Given the description of an element on the screen output the (x, y) to click on. 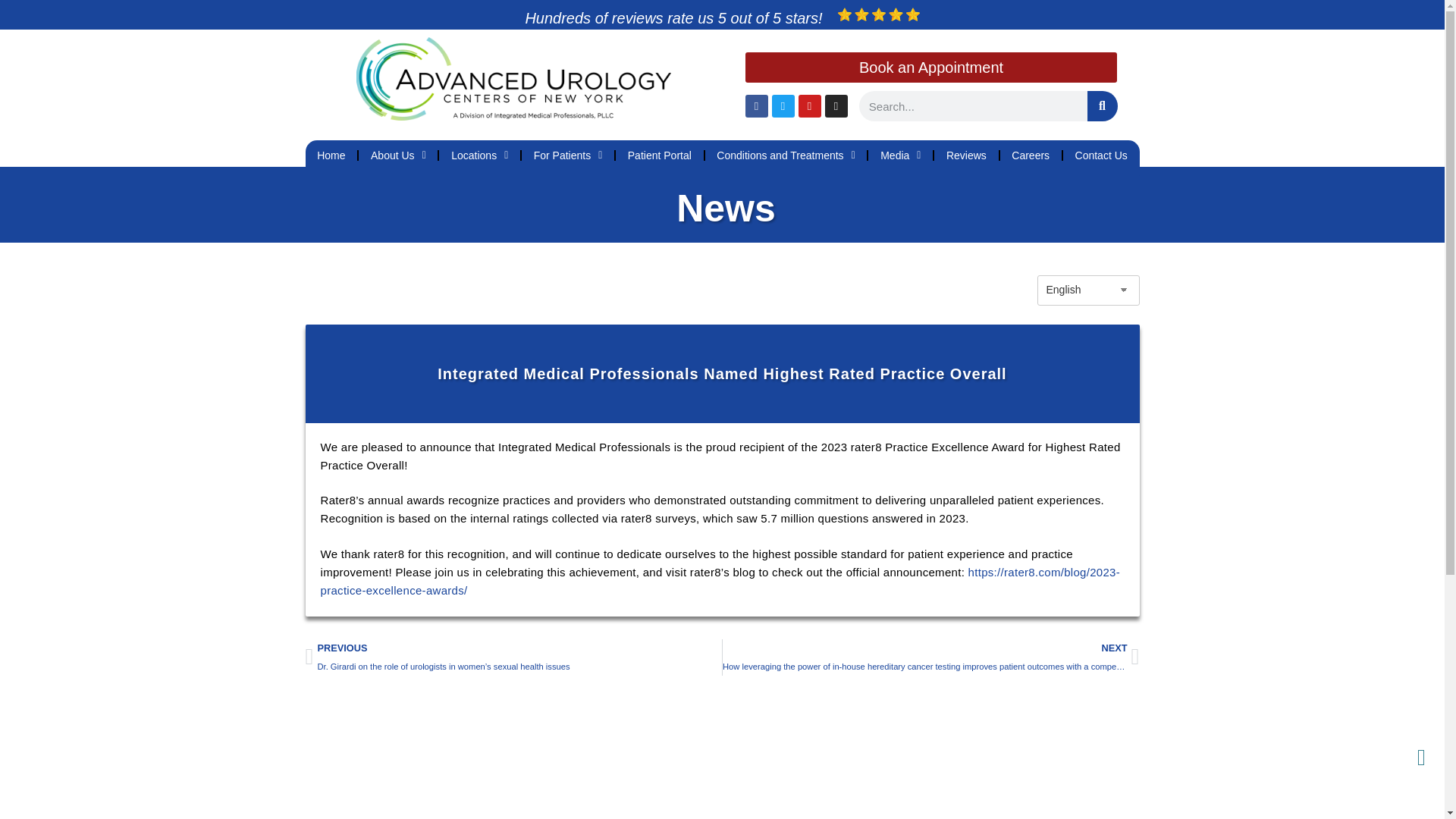
Book an Appointment (930, 67)
Home (330, 155)
About Us (398, 155)
Locations (479, 155)
